Given the description of an element on the screen output the (x, y) to click on. 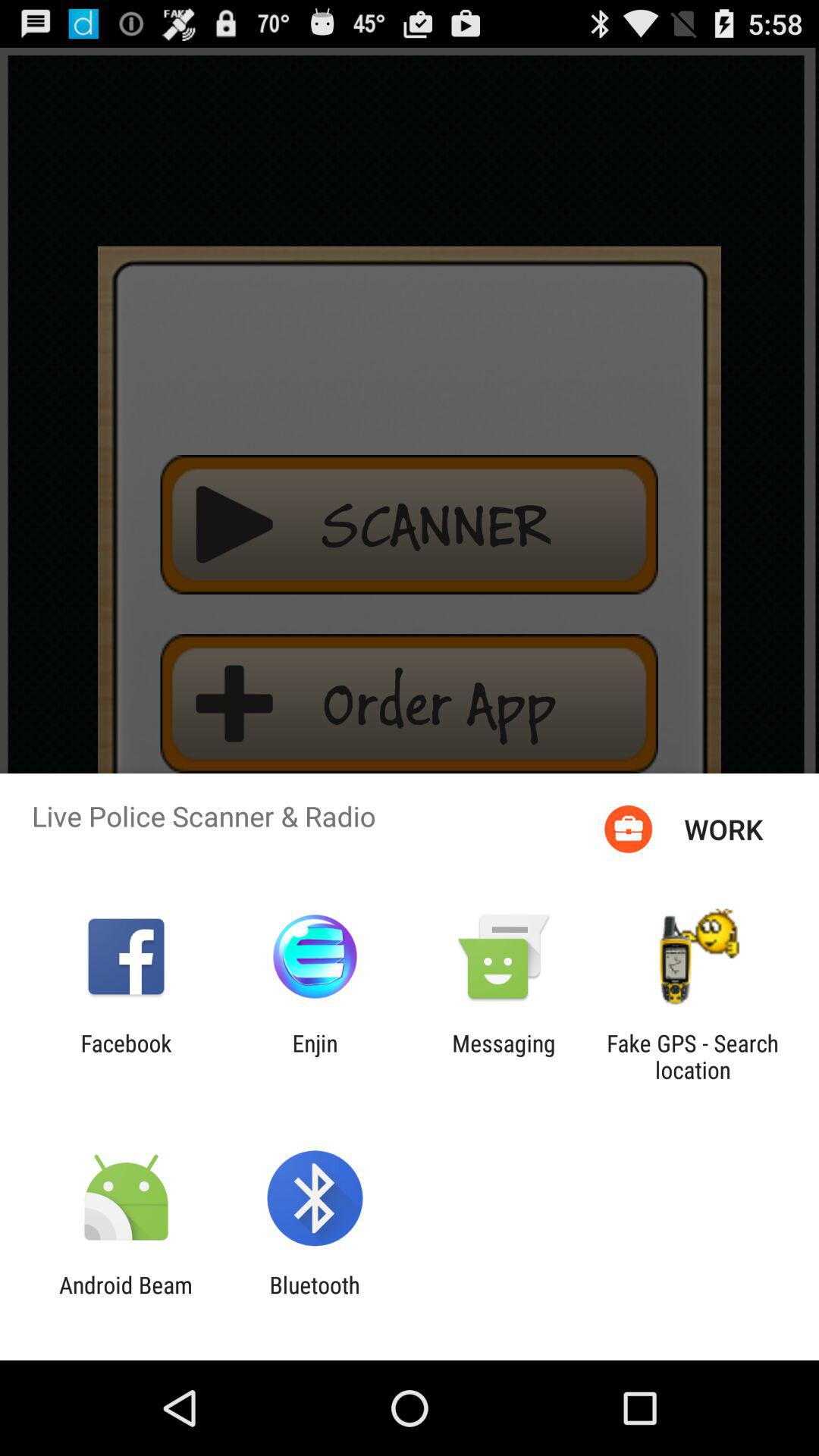
press the icon to the right of messaging (692, 1056)
